Given the description of an element on the screen output the (x, y) to click on. 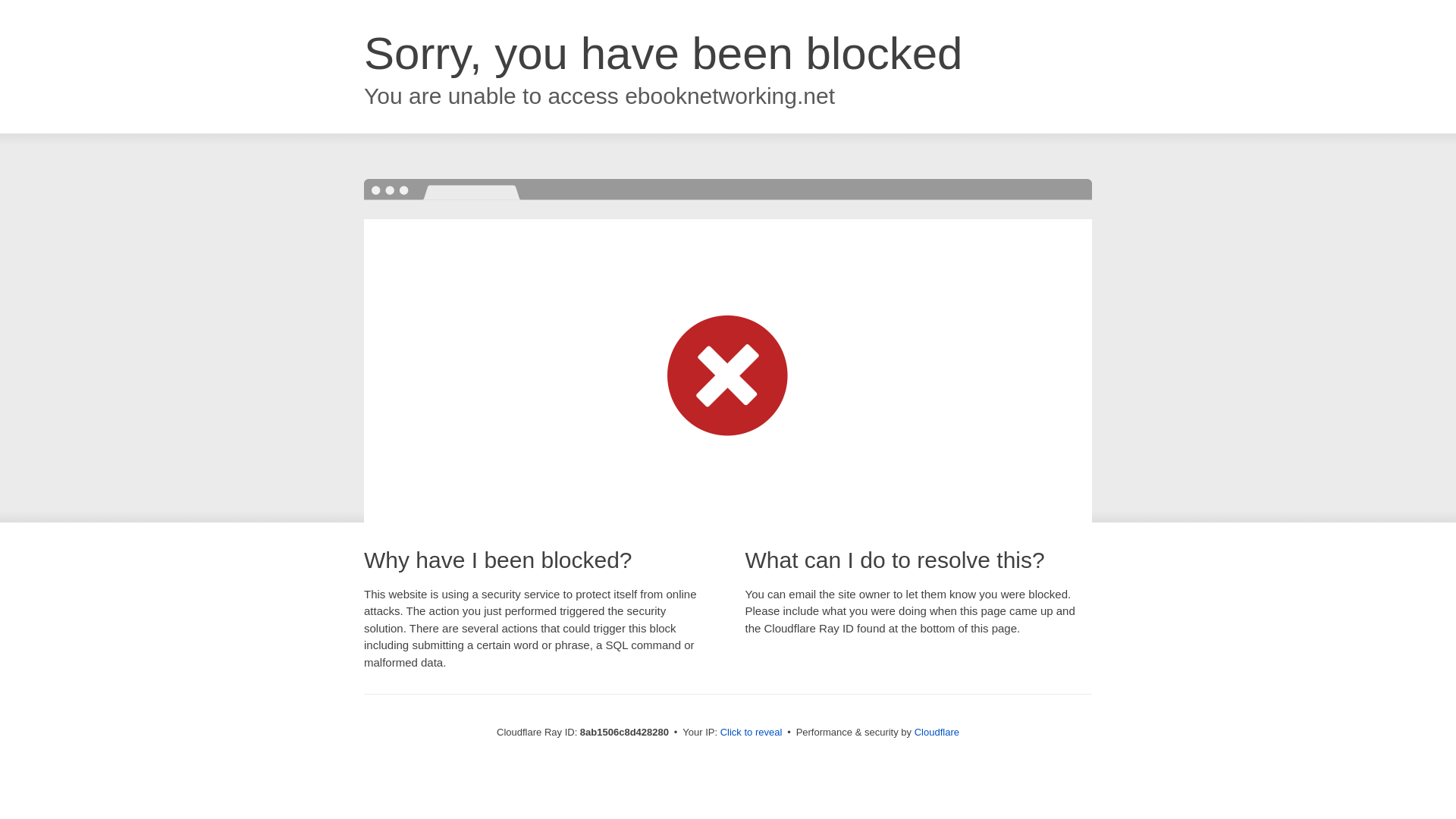
Cloudflare (936, 731)
Click to reveal (751, 732)
